Given the description of an element on the screen output the (x, y) to click on. 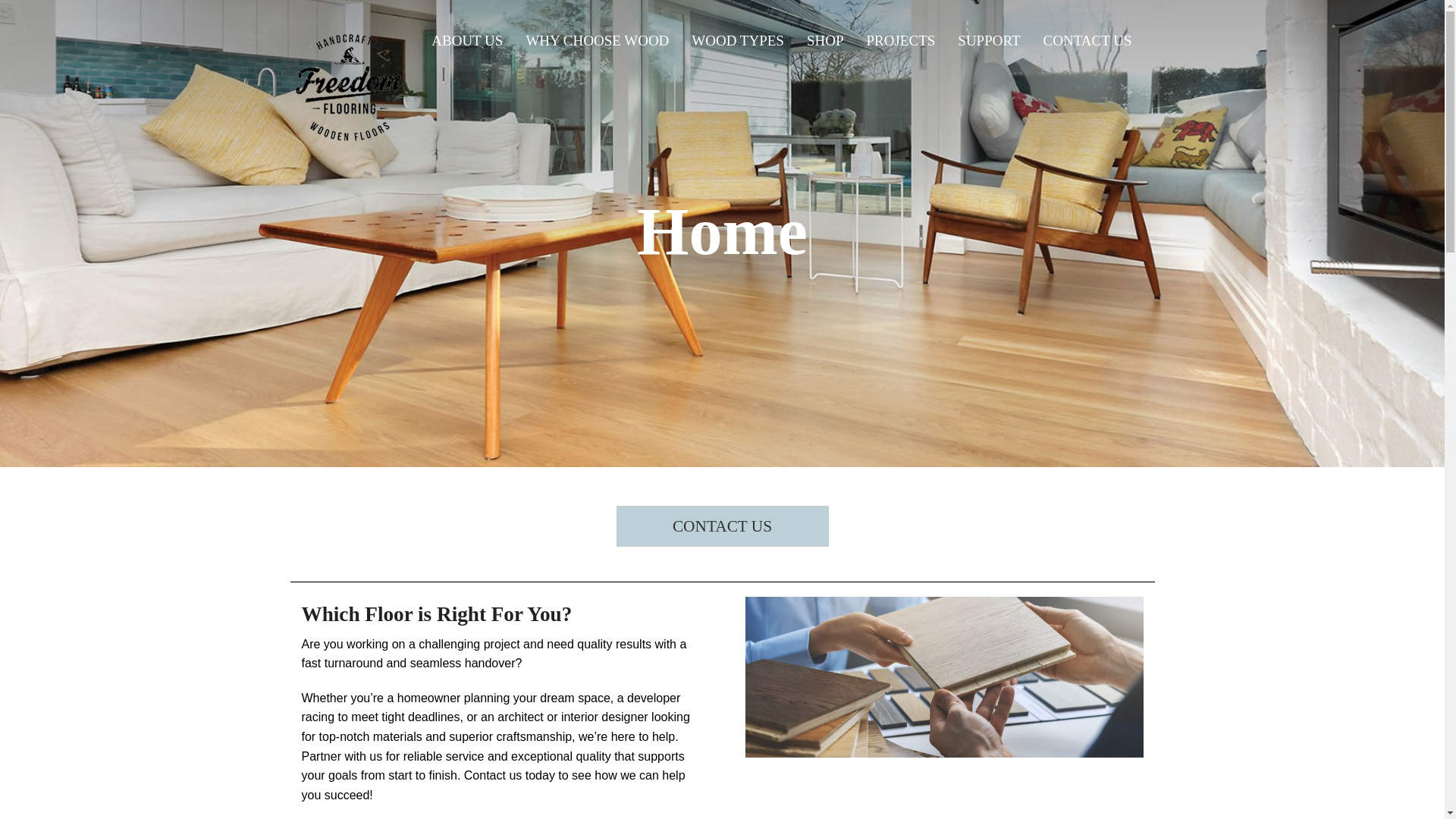
PROJECTS (901, 40)
SUPPORT (988, 40)
CONTACT US (1087, 40)
WOOD TYPES (736, 40)
WHY CHOOSE WOOD (596, 40)
ABOUT US (466, 40)
SHOP (825, 40)
CONTACT US (721, 526)
